Given the description of an element on the screen output the (x, y) to click on. 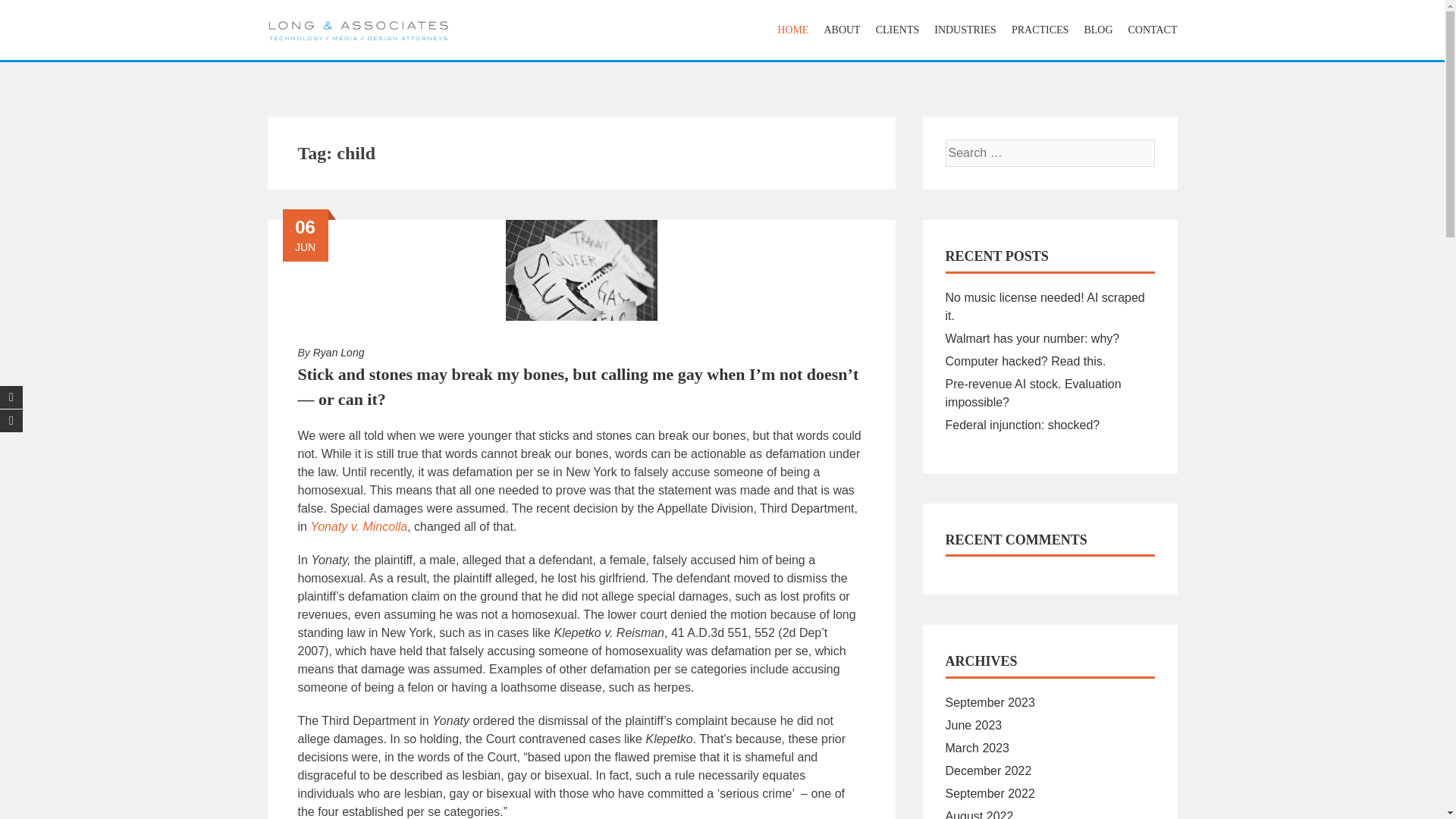
Walmart has your number: why? (1031, 338)
CLIENTS (897, 29)
HOME (792, 29)
BLOG (1097, 29)
Computer hacked? Read this. (1024, 360)
September 2023 (988, 702)
CONTACT (1149, 29)
Federal injunction: shocked? (1021, 424)
Pre-revenue AI stock. Evaluation impossible? (1032, 392)
ABOUT (841, 29)
